Given the description of an element on the screen output the (x, y) to click on. 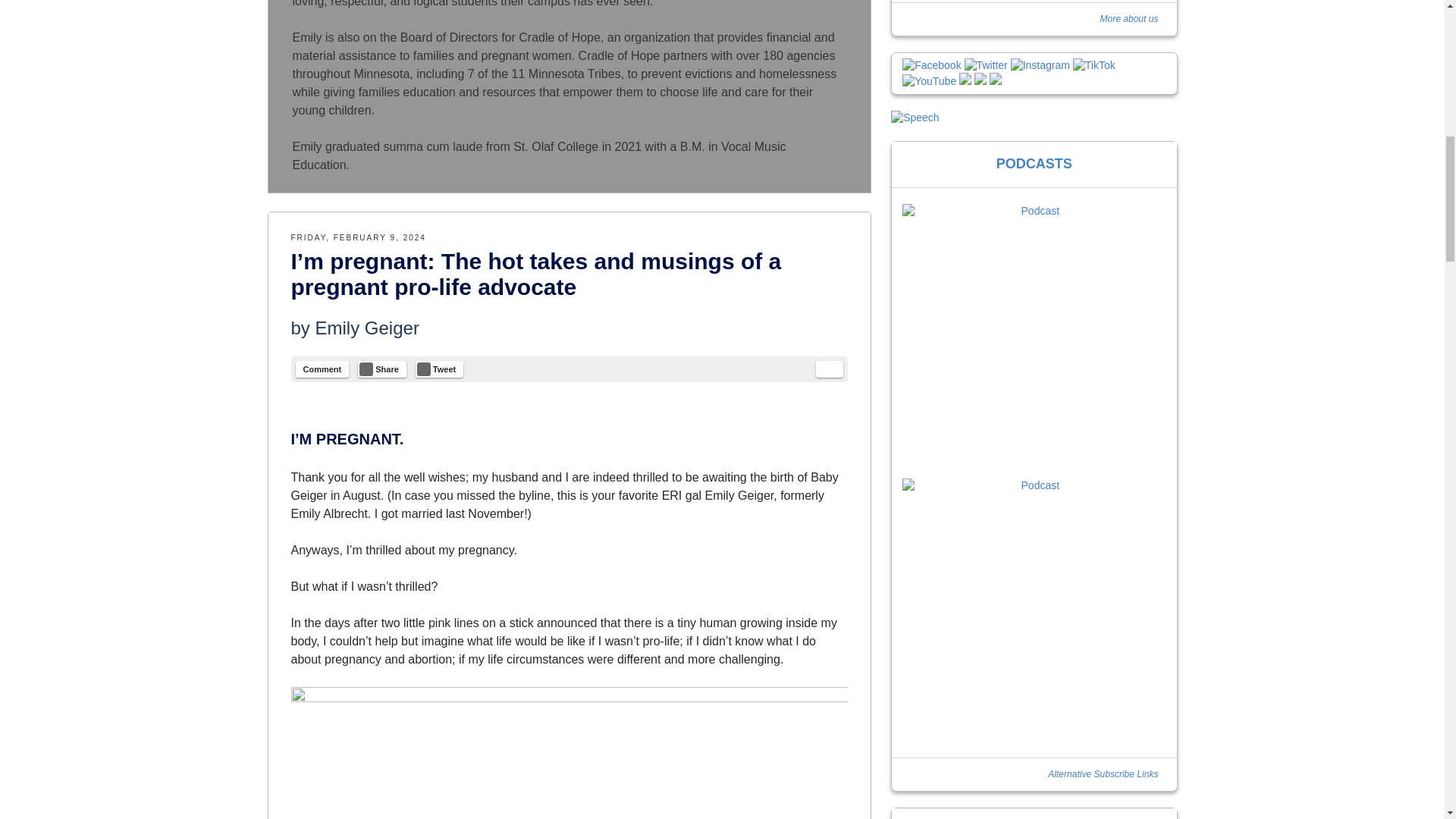
Share on Facebook (382, 369)
Emily Geiger (367, 327)
Tweet (438, 369)
Share (382, 369)
View all posts by Emily Geiger (367, 327)
email (829, 369)
Tweet this Post (438, 369)
Comment on this Post (322, 369)
Comment (322, 369)
